Given the description of an element on the screen output the (x, y) to click on. 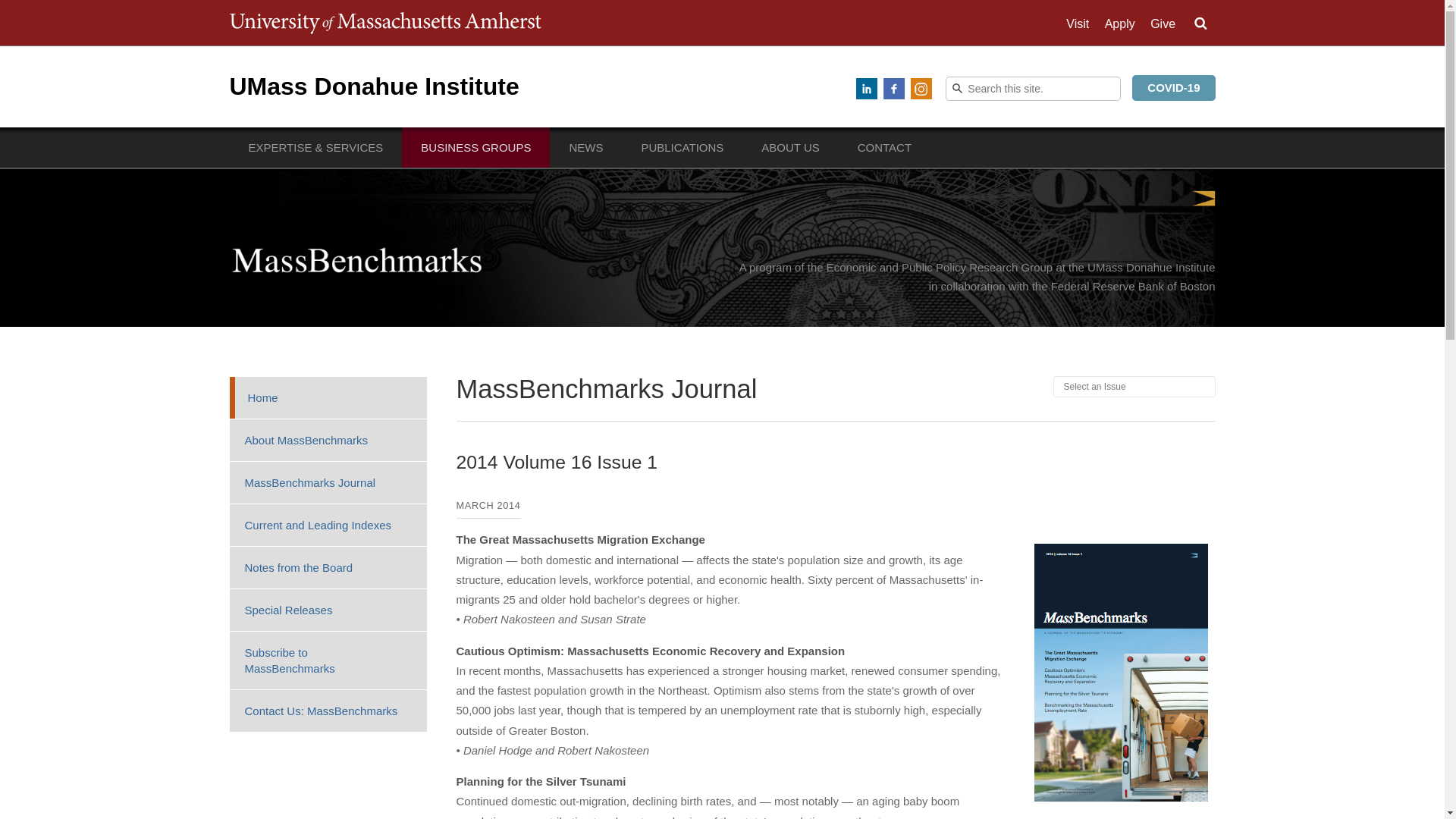
Facebook (893, 88)
LinkedIn (866, 88)
Instagram (921, 88)
COVID-19 (1173, 87)
UMass Amherst (384, 22)
The University of Massachusetts Amherst (384, 22)
UMass Donahue Institute (373, 85)
Visit (1077, 24)
Give (1162, 24)
Search UMass.edu (1199, 23)
Twitter (839, 88)
Apply (1120, 24)
